Given the description of an element on the screen output the (x, y) to click on. 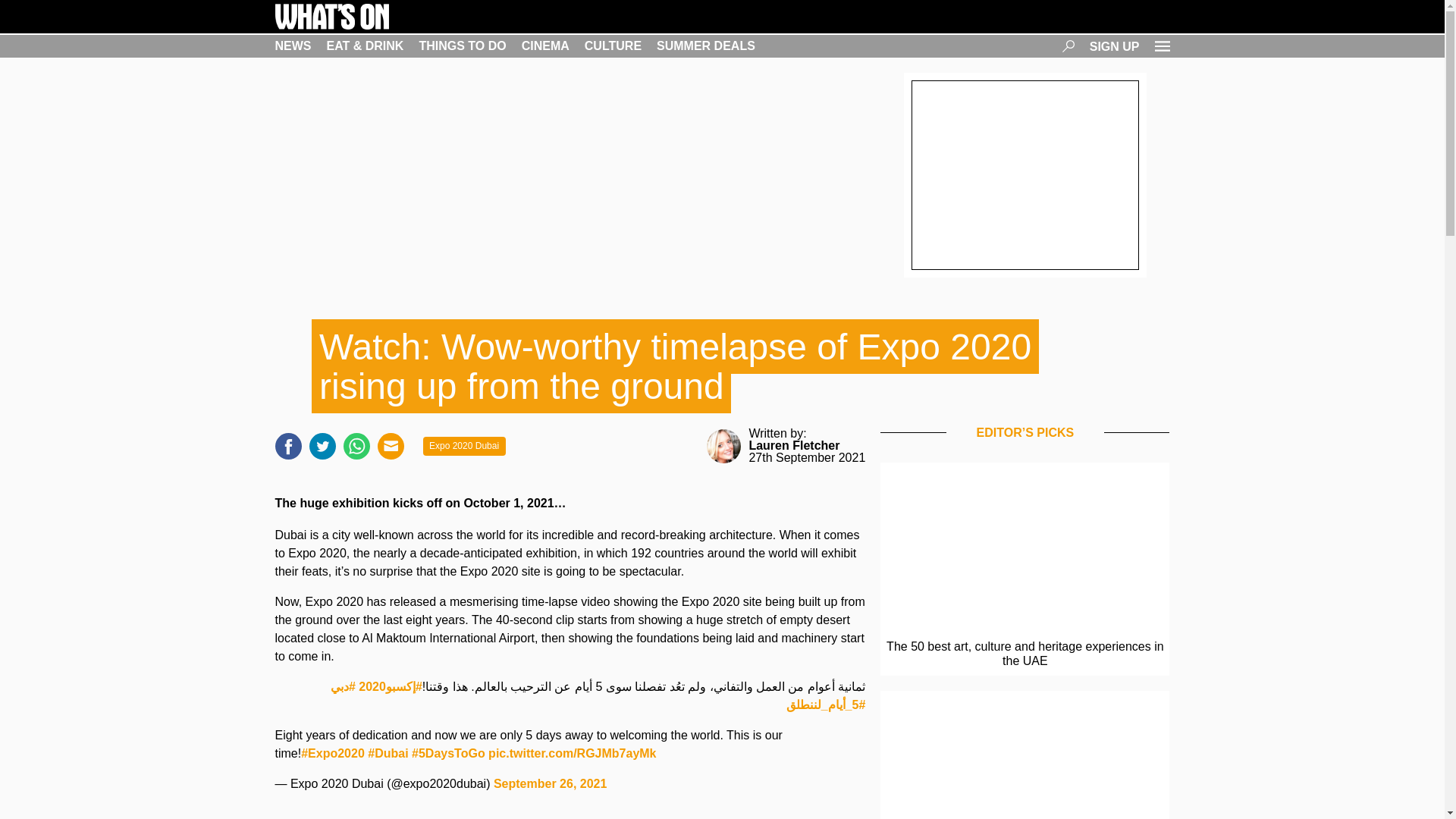
NEWS (293, 45)
CINEMA (545, 45)
CULTURE (613, 45)
SIGN UP (1114, 45)
SUMMER DEALS (705, 45)
THINGS TO DO (462, 45)
